Given the description of an element on the screen output the (x, y) to click on. 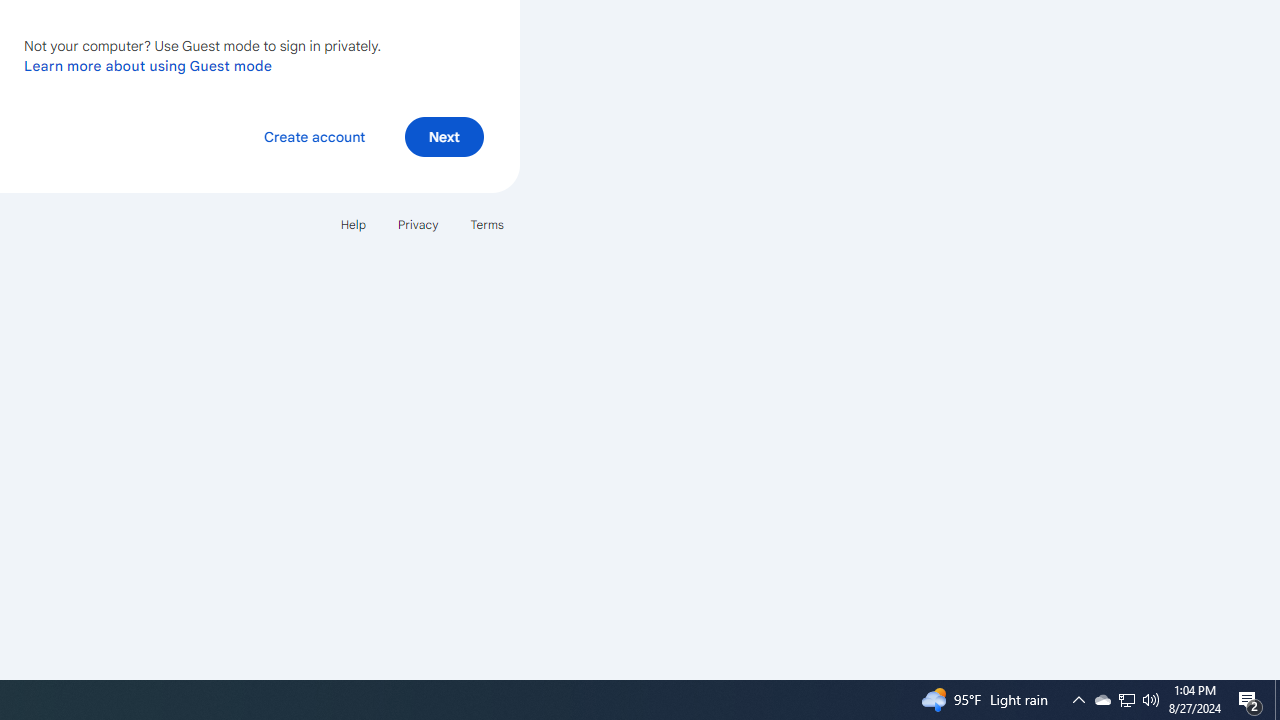
Learn more about using Guest mode (148, 65)
Create account (314, 135)
